Given the description of an element on the screen output the (x, y) to click on. 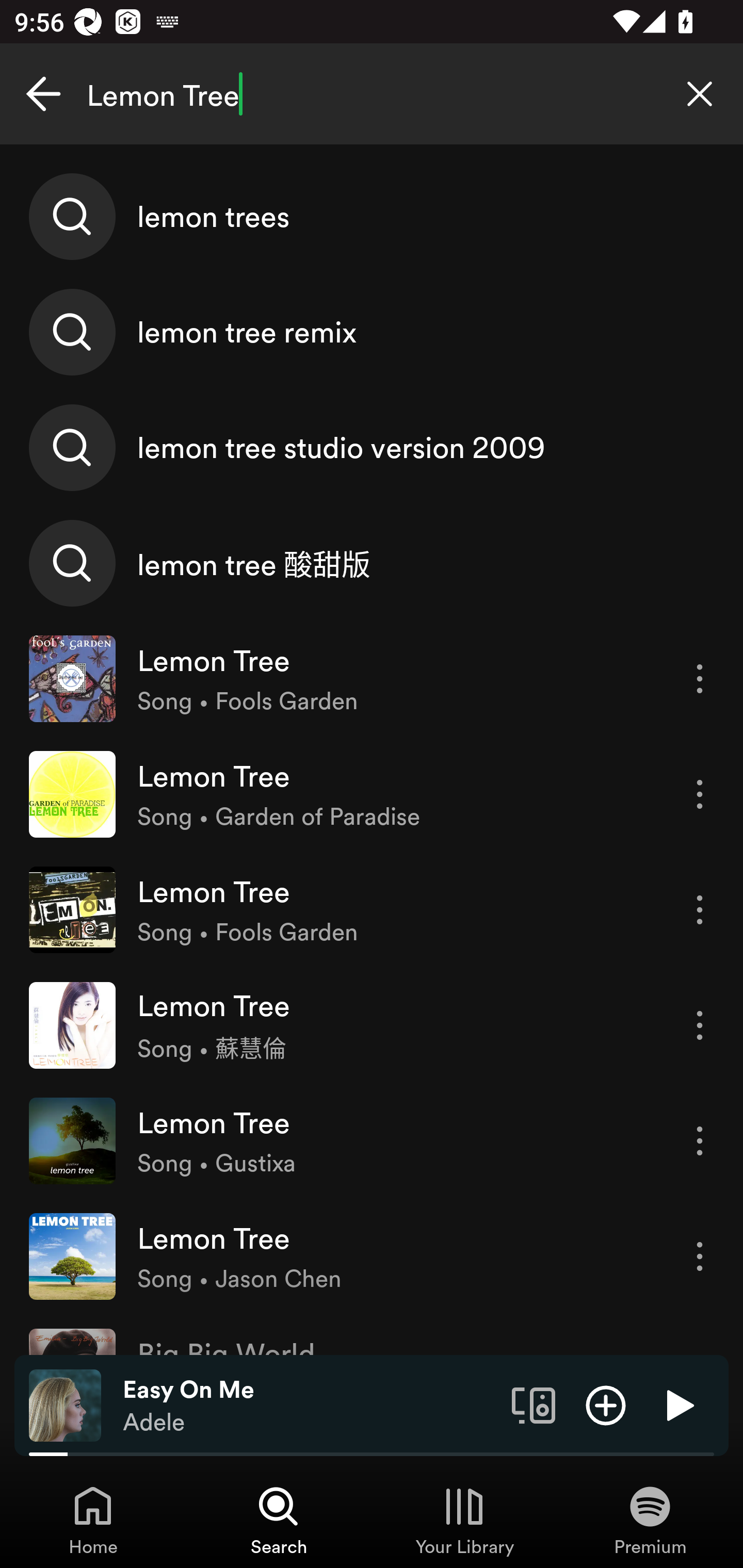
Lemon Tree (371, 93)
Cancel (43, 93)
Clear search query (699, 93)
lemon trees (371, 216)
lemon tree remix (371, 332)
lemon tree studio version 2009 (371, 447)
lemon tree 酸甜版 (371, 562)
More options for song Lemon Tree (699, 678)
More options for song Lemon Tree (699, 794)
More options for song Lemon Tree (699, 910)
More options for song Lemon Tree (699, 1025)
More options for song Lemon Tree (699, 1140)
More options for song Lemon Tree (699, 1256)
Easy On Me Adele (309, 1405)
The cover art of the currently playing track (64, 1404)
Connect to a device. Opens the devices menu (533, 1404)
Add item (605, 1404)
Play (677, 1404)
Home, Tab 1 of 4 Home Home (92, 1519)
Search, Tab 2 of 4 Search Search (278, 1519)
Your Library, Tab 3 of 4 Your Library Your Library (464, 1519)
Premium, Tab 4 of 4 Premium Premium (650, 1519)
